Given the description of an element on the screen output the (x, y) to click on. 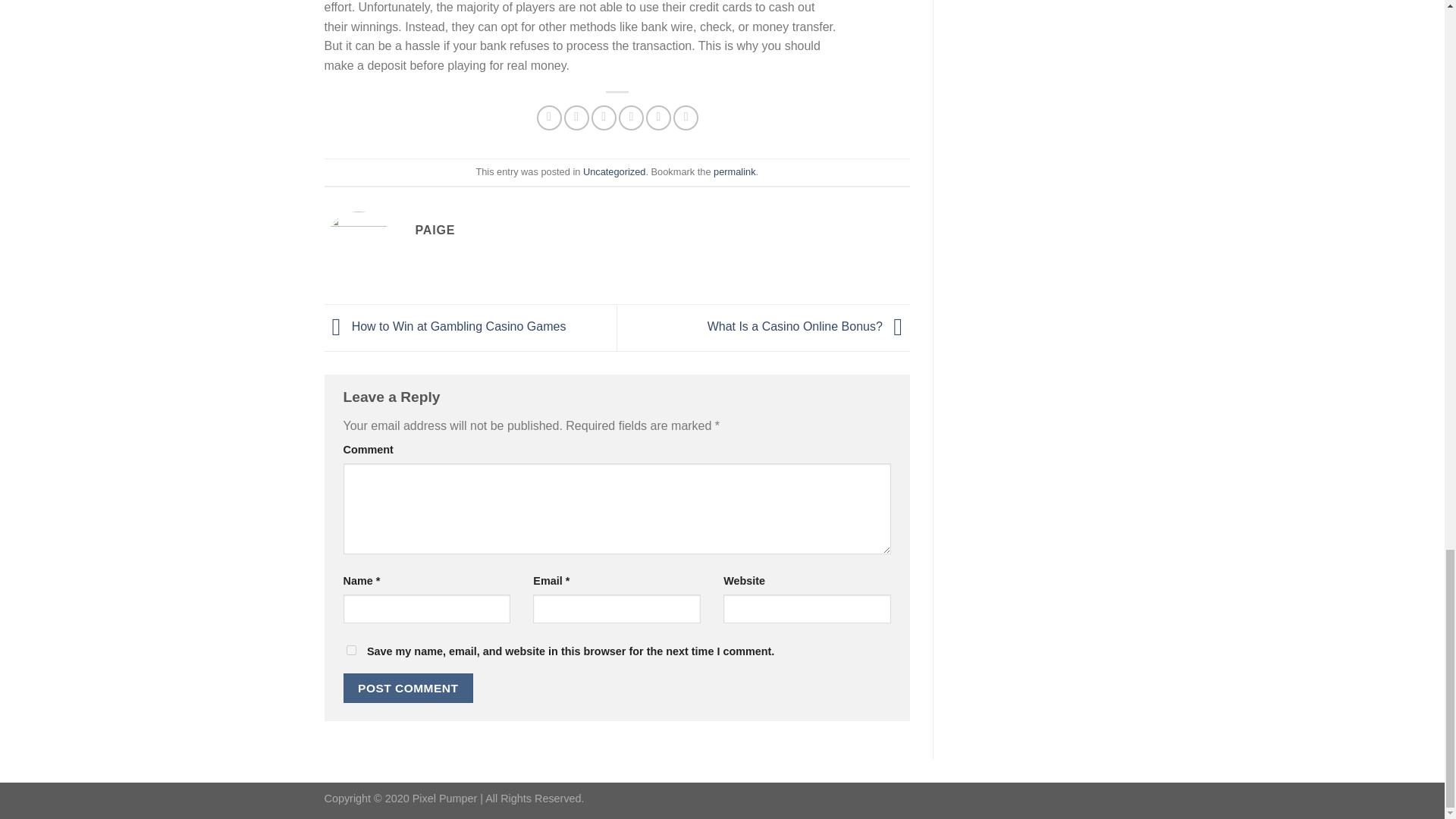
What Is a Casino Online Bonus? (808, 326)
yes (350, 650)
Post Comment (407, 687)
Uncategorized (614, 171)
Permalink to How to Register Casino Online (734, 171)
How to Win at Gambling Casino Games (445, 326)
permalink (734, 171)
Post Comment (407, 687)
